Given the description of an element on the screen output the (x, y) to click on. 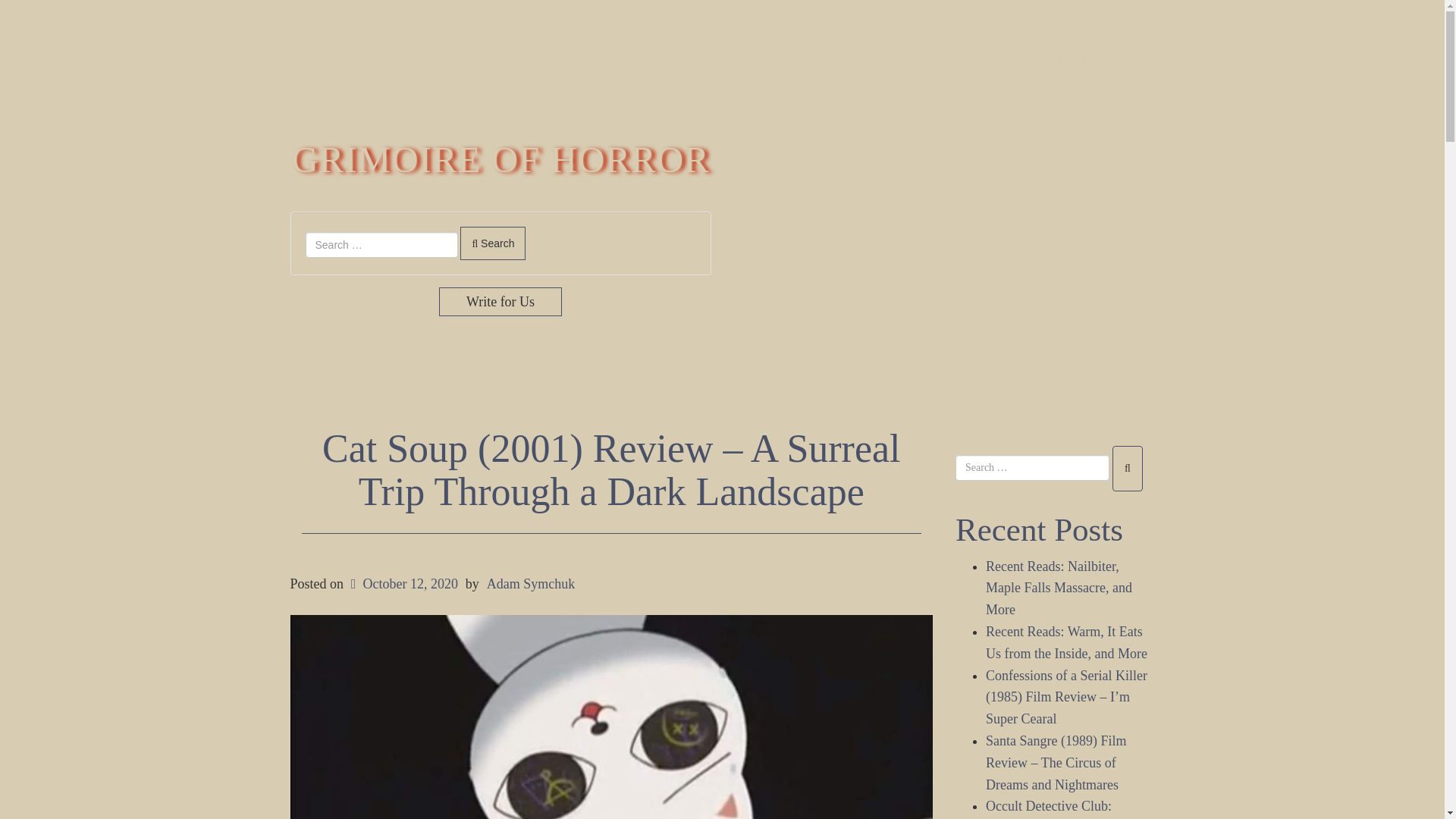
Reddit (1133, 57)
Twitter (1063, 57)
Instagram (1086, 57)
Write for Us (500, 301)
ABOUT (649, 30)
October 12, 2020 (402, 583)
GRIMOIRE OF HORROR (552, 30)
REDDIT (1133, 57)
FACEBOOK (1039, 57)
 Search (492, 243)
